Given the description of an element on the screen output the (x, y) to click on. 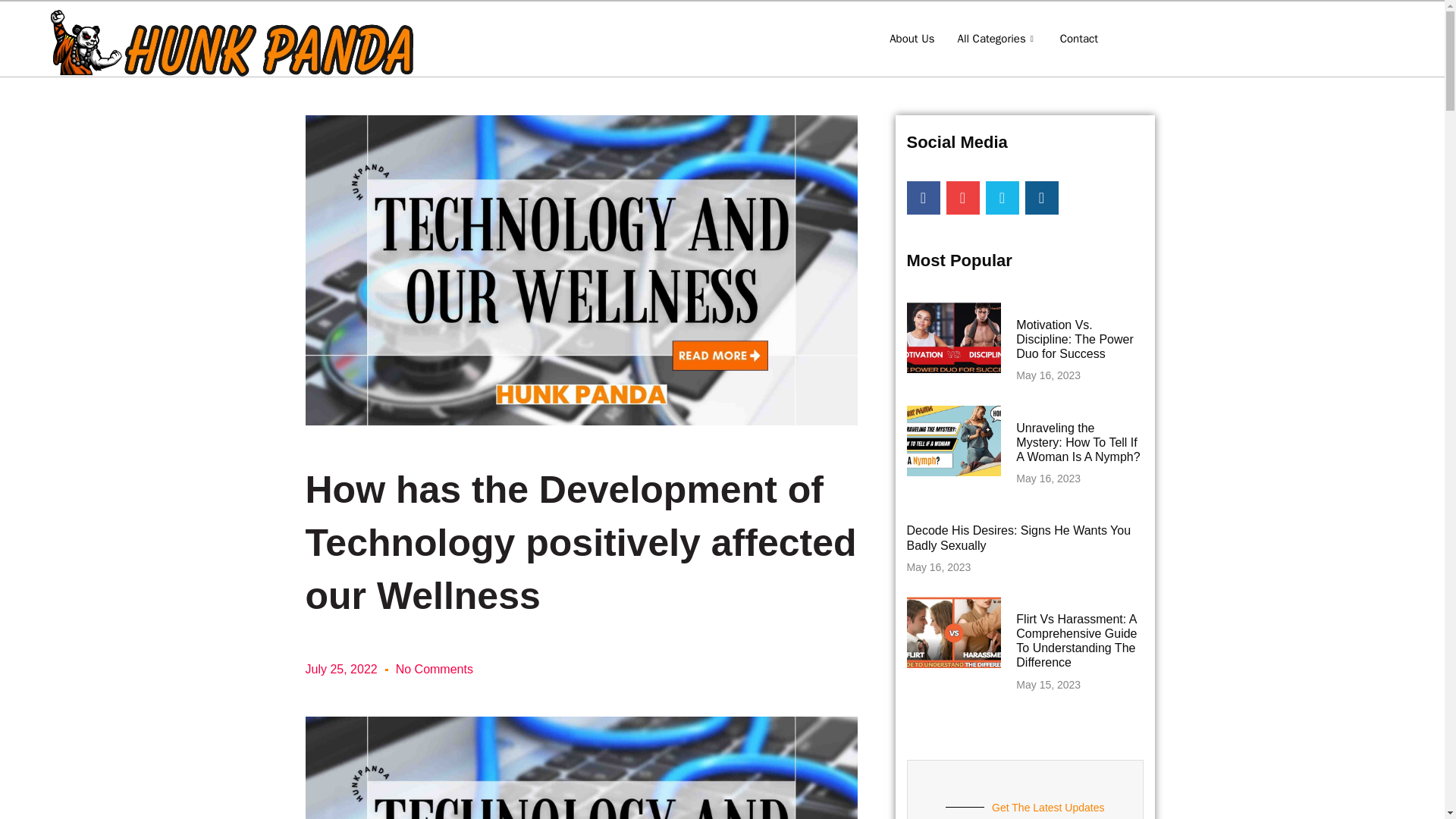
July 25, 2022 (340, 669)
All Categories (997, 38)
About Us (910, 38)
Contact (1078, 38)
No Comments (434, 669)
